Given the description of an element on the screen output the (x, y) to click on. 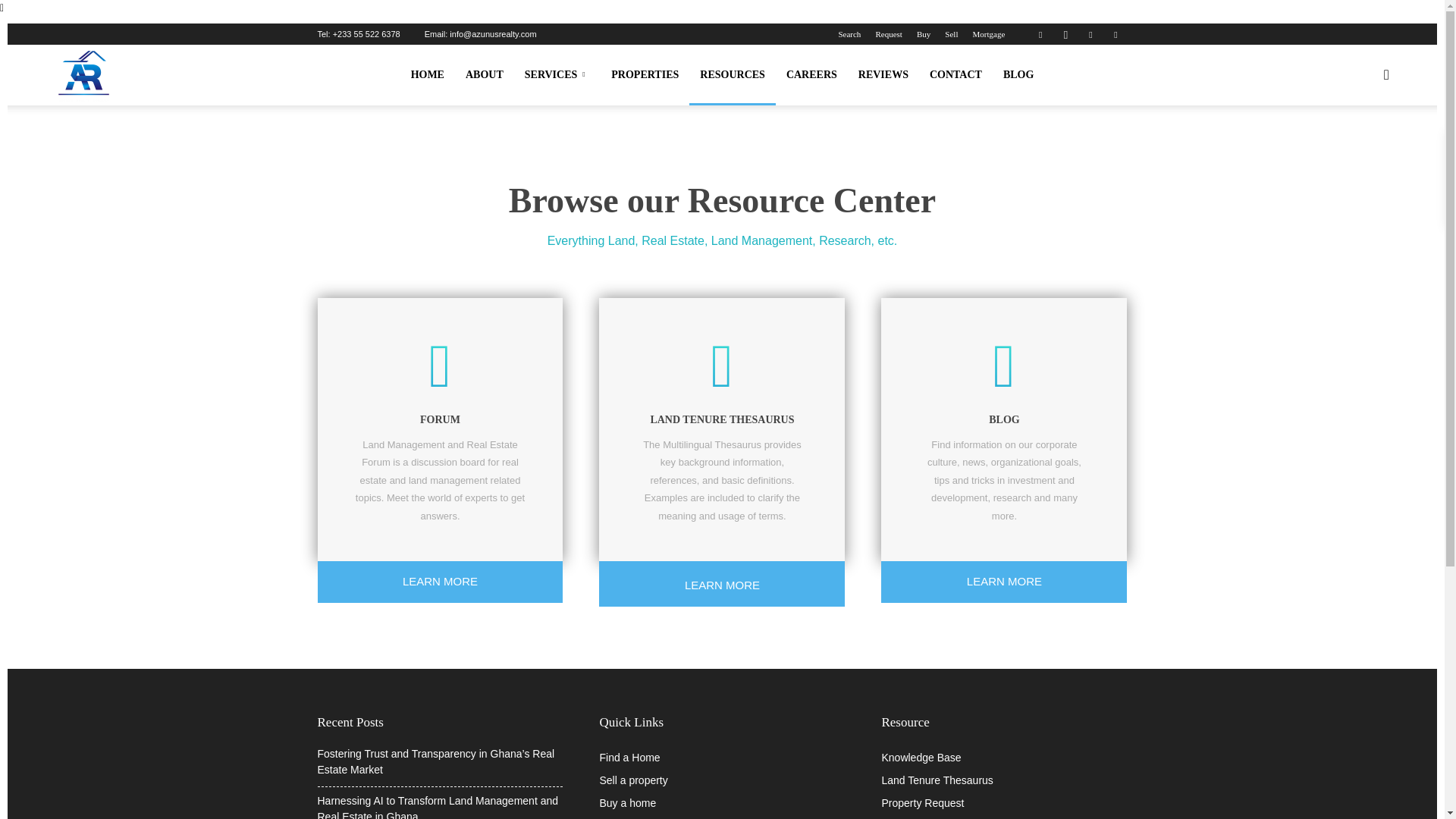
Learn more (721, 581)
Buy (923, 33)
Search (1362, 147)
Azunus Realty Consult Logo (83, 75)
Azunus Realty Consult (83, 74)
Linkedin (1090, 34)
Request (888, 33)
HOME (427, 75)
Sell (951, 33)
Facebook (1040, 34)
Search (849, 33)
Twitter (1114, 34)
